Given the description of an element on the screen output the (x, y) to click on. 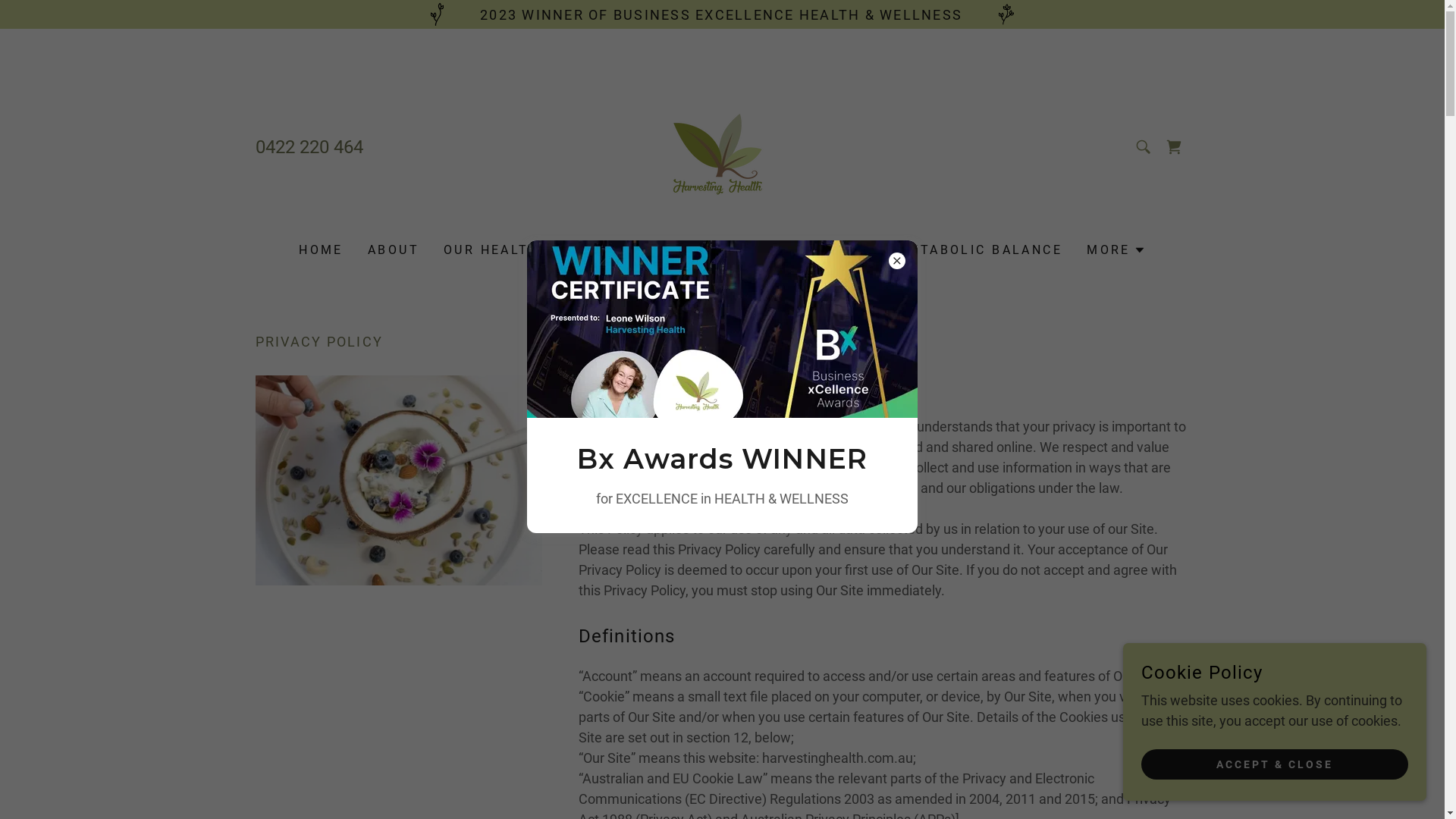
Harvesting Health Naturopathy Element type: hover (721, 145)
SERVICES Element type: text (731, 249)
BOOKINGS Element type: text (833, 249)
HOME Element type: text (321, 249)
ACCEPT & CLOSE Element type: text (1274, 764)
METABOLIC BALANCE Element type: text (979, 249)
ABOUT Element type: text (393, 249)
OUR HEALTH PRACTITIONERS Element type: text (556, 249)
0422 220 464 Element type: text (308, 146)
MORE Element type: text (1115, 250)
